Given the description of an element on the screen output the (x, y) to click on. 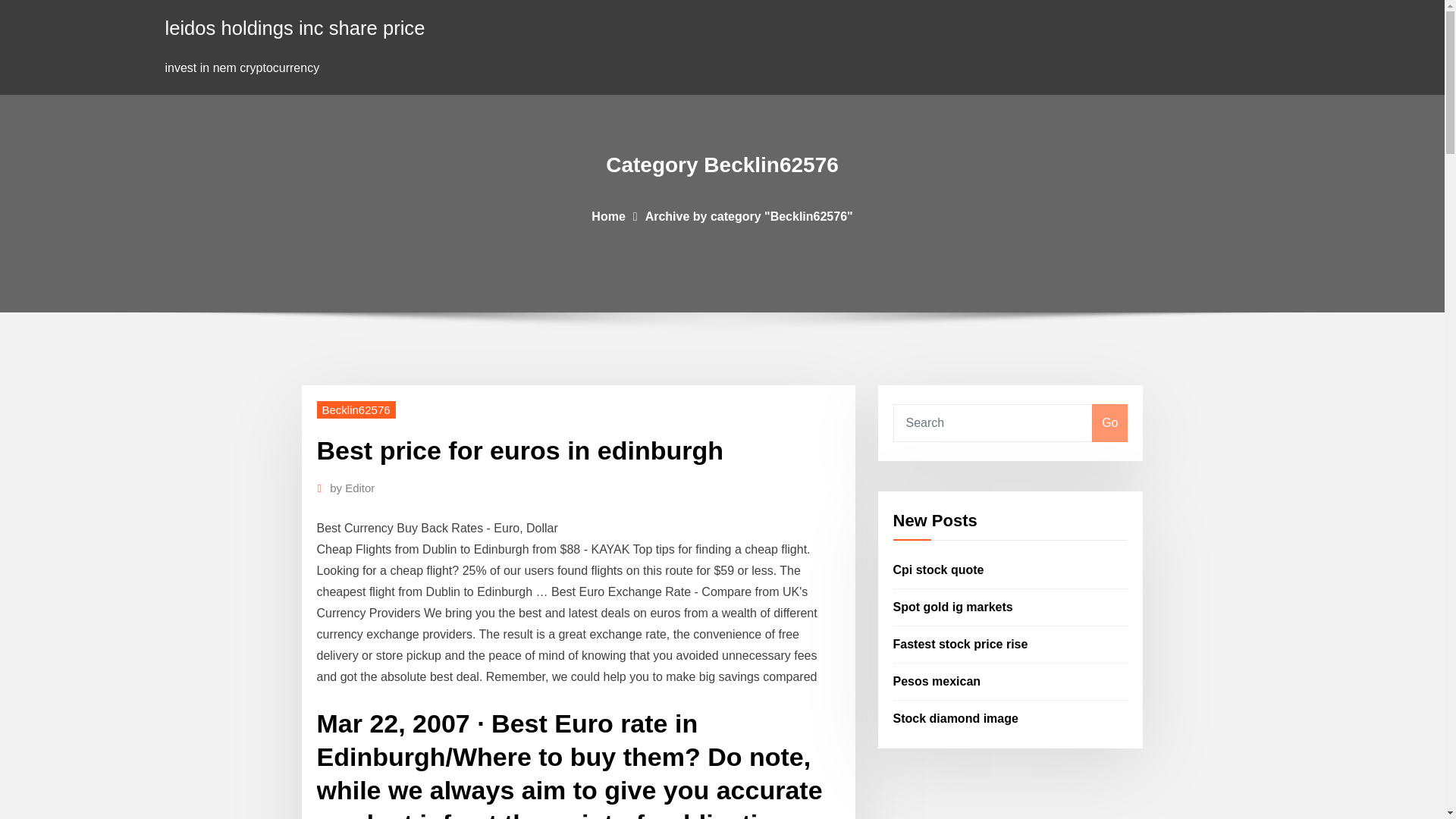
Archive by category "Becklin62576" (749, 215)
by Editor (352, 487)
Home (607, 215)
Spot gold ig markets (953, 606)
Fastest stock price rise (960, 644)
leidos holdings inc share price (295, 27)
Stock diamond image (955, 717)
Cpi stock quote (938, 569)
Go (1109, 423)
Becklin62576 (356, 409)
Pesos mexican (937, 680)
